Given the description of an element on the screen output the (x, y) to click on. 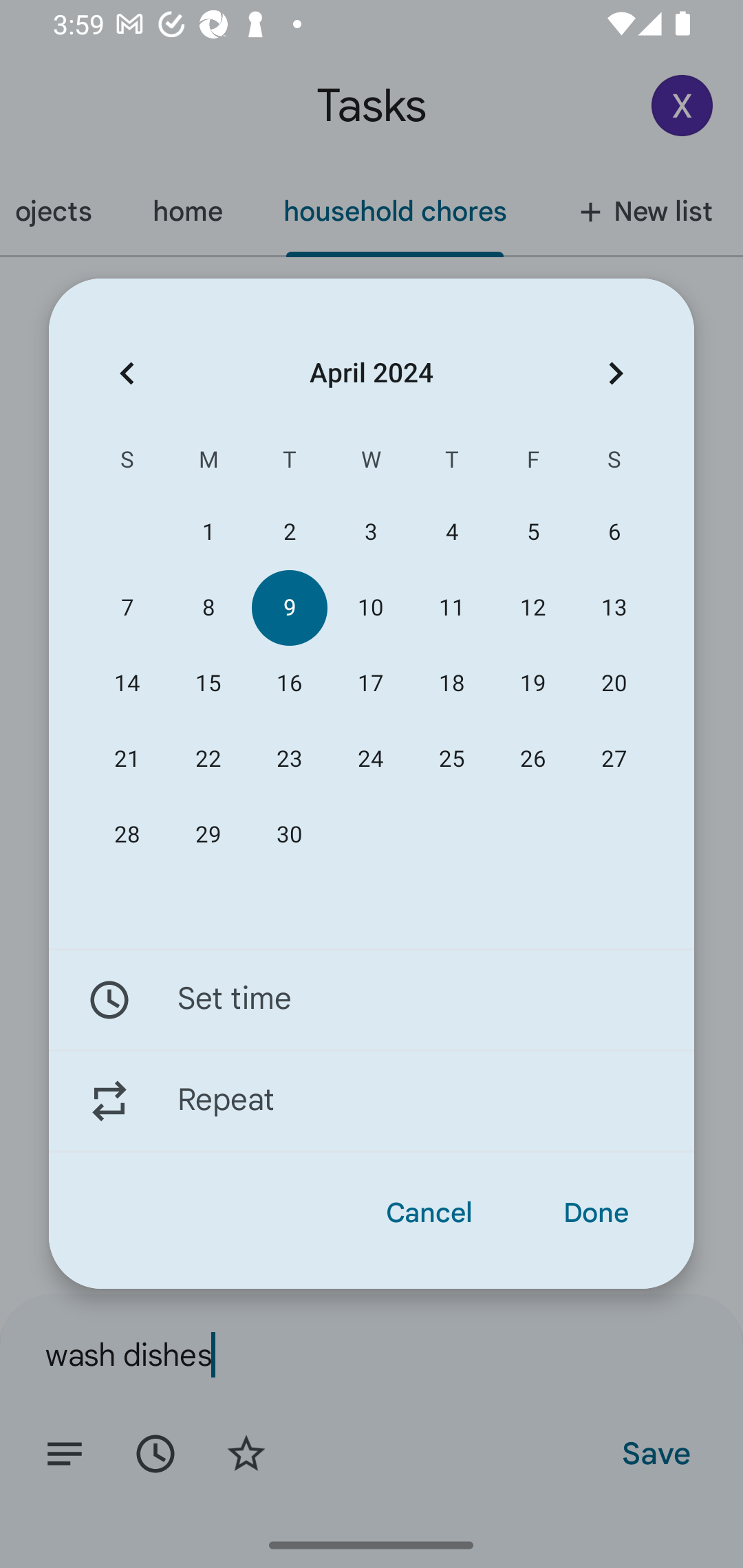
Previous month (126, 372)
Next month (615, 372)
1 01 April 2024 (207, 531)
2 02 April 2024 (288, 531)
3 03 April 2024 (370, 531)
4 04 April 2024 (451, 531)
5 05 April 2024 (532, 531)
6 06 April 2024 (613, 531)
7 07 April 2024 (126, 608)
8 08 April 2024 (207, 608)
9 09 April 2024 (288, 608)
10 10 April 2024 (370, 608)
11 11 April 2024 (451, 608)
12 12 April 2024 (532, 608)
13 13 April 2024 (613, 608)
14 14 April 2024 (126, 683)
15 15 April 2024 (207, 683)
16 16 April 2024 (288, 683)
17 17 April 2024 (370, 683)
18 18 April 2024 (451, 683)
19 19 April 2024 (532, 683)
20 20 April 2024 (613, 683)
21 21 April 2024 (126, 758)
22 22 April 2024 (207, 758)
23 23 April 2024 (288, 758)
24 24 April 2024 (370, 758)
25 25 April 2024 (451, 758)
26 26 April 2024 (532, 758)
27 27 April 2024 (613, 758)
28 28 April 2024 (126, 834)
29 29 April 2024 (207, 834)
30 30 April 2024 (288, 834)
Set time (371, 999)
Repeat (371, 1101)
Cancel (429, 1213)
Done (595, 1213)
